Given the description of an element on the screen output the (x, y) to click on. 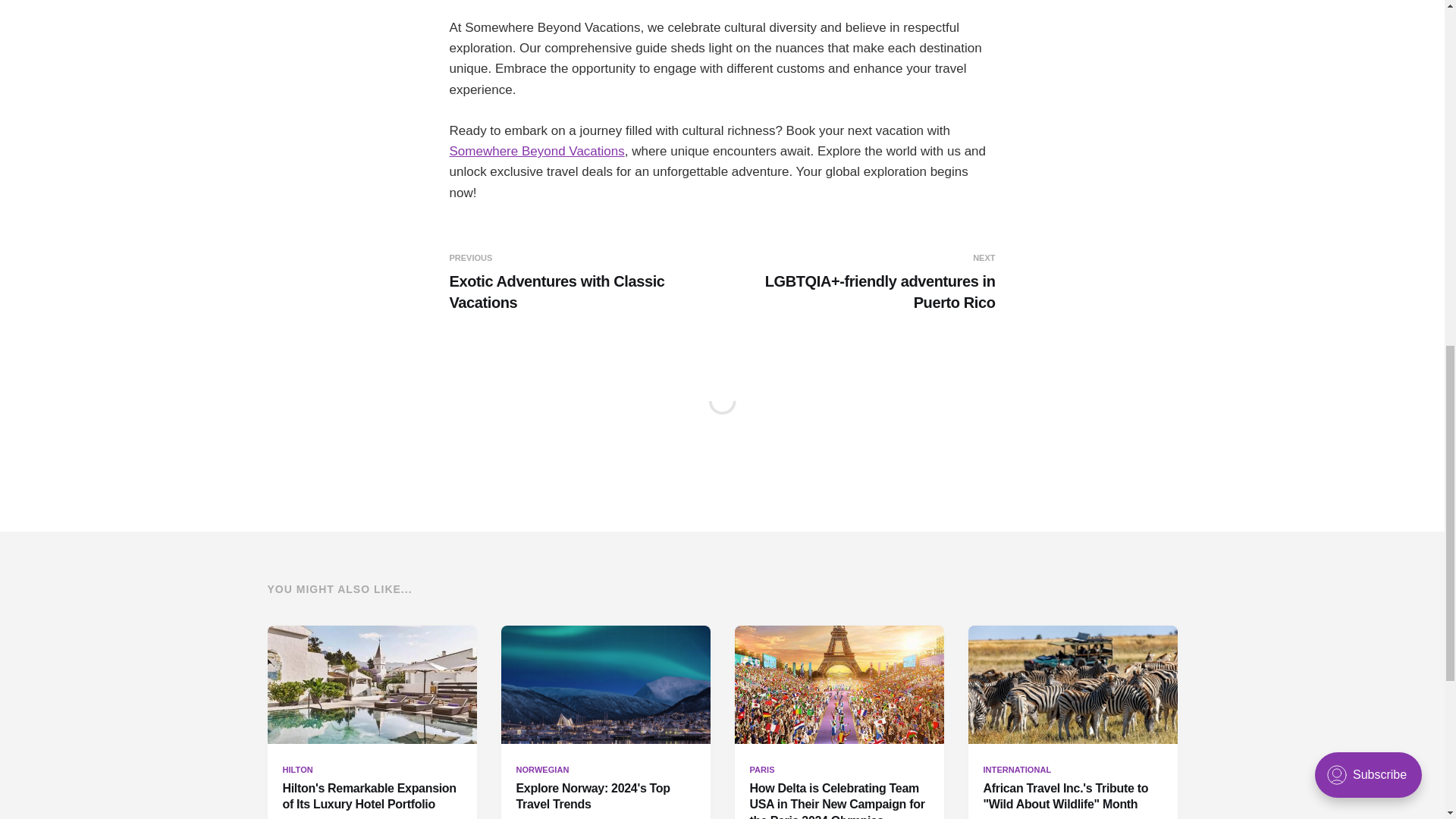
comments-frame (721, 418)
Somewhere Beyond Vacations (536, 151)
